Given the description of an element on the screen output the (x, y) to click on. 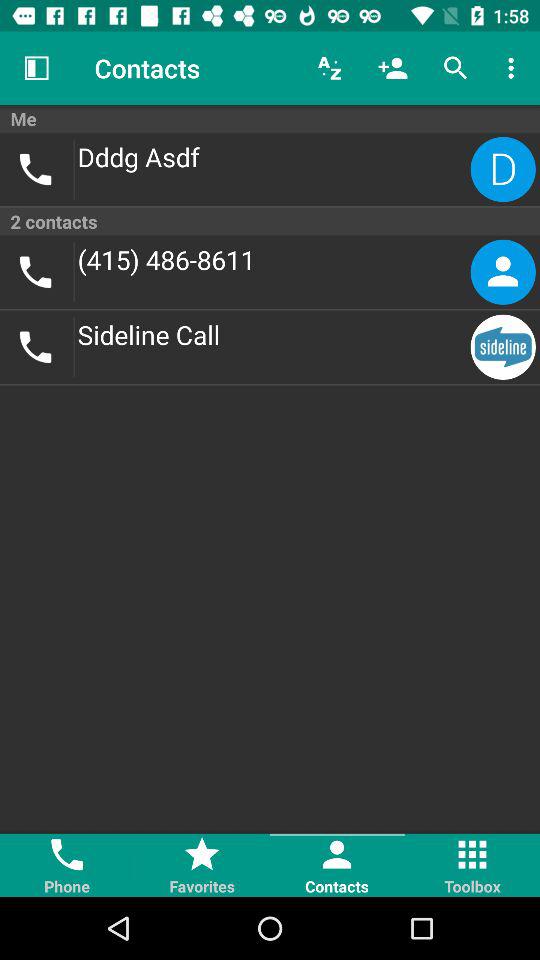
turn off the icon above the me item (329, 67)
